Given the description of an element on the screen output the (x, y) to click on. 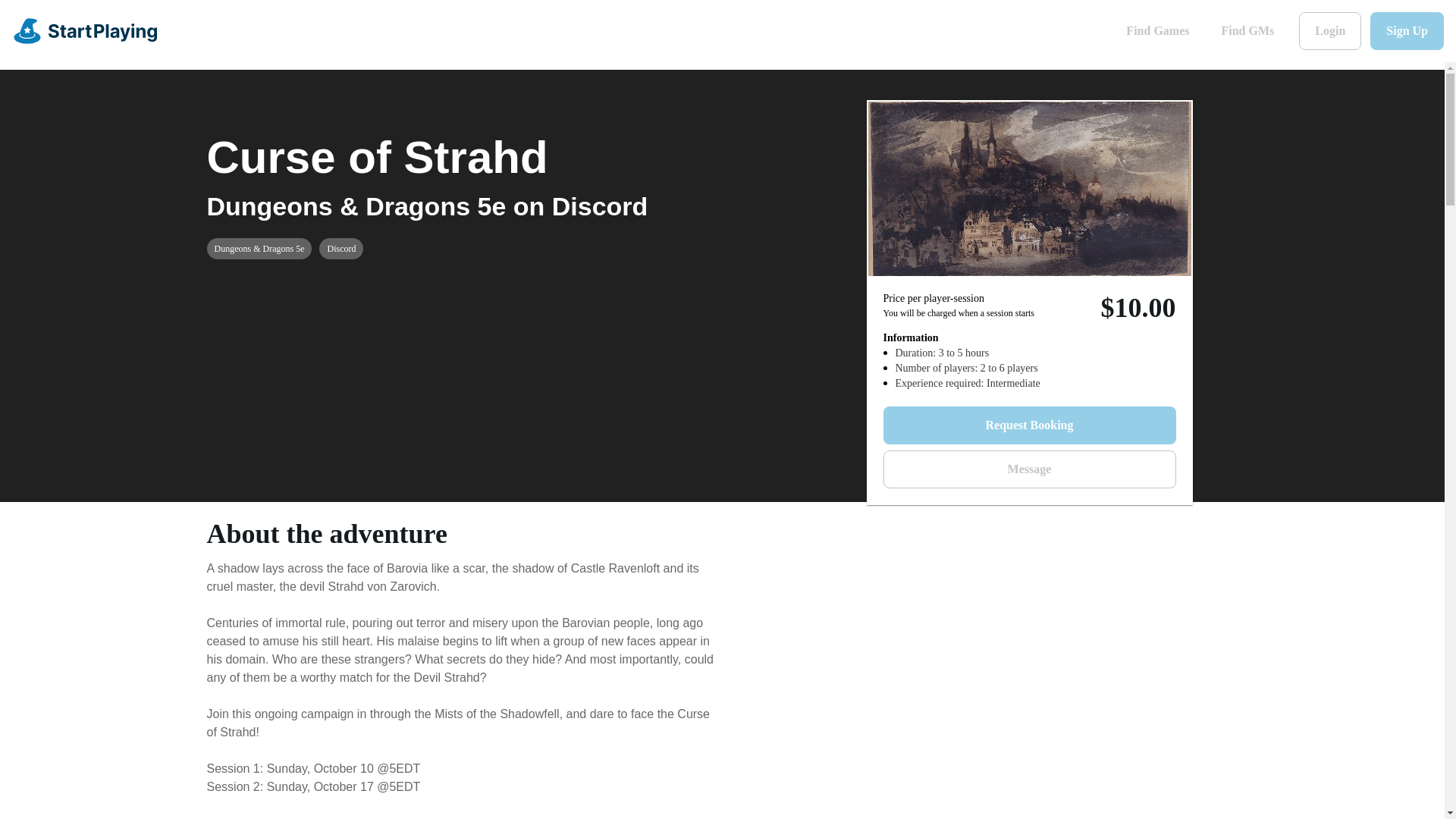
Login (1329, 30)
Sign Up (1407, 30)
Find GMs (1247, 30)
Request Booking (1028, 425)
Find Games (1157, 30)
Message (1028, 469)
